Given the description of an element on the screen output the (x, y) to click on. 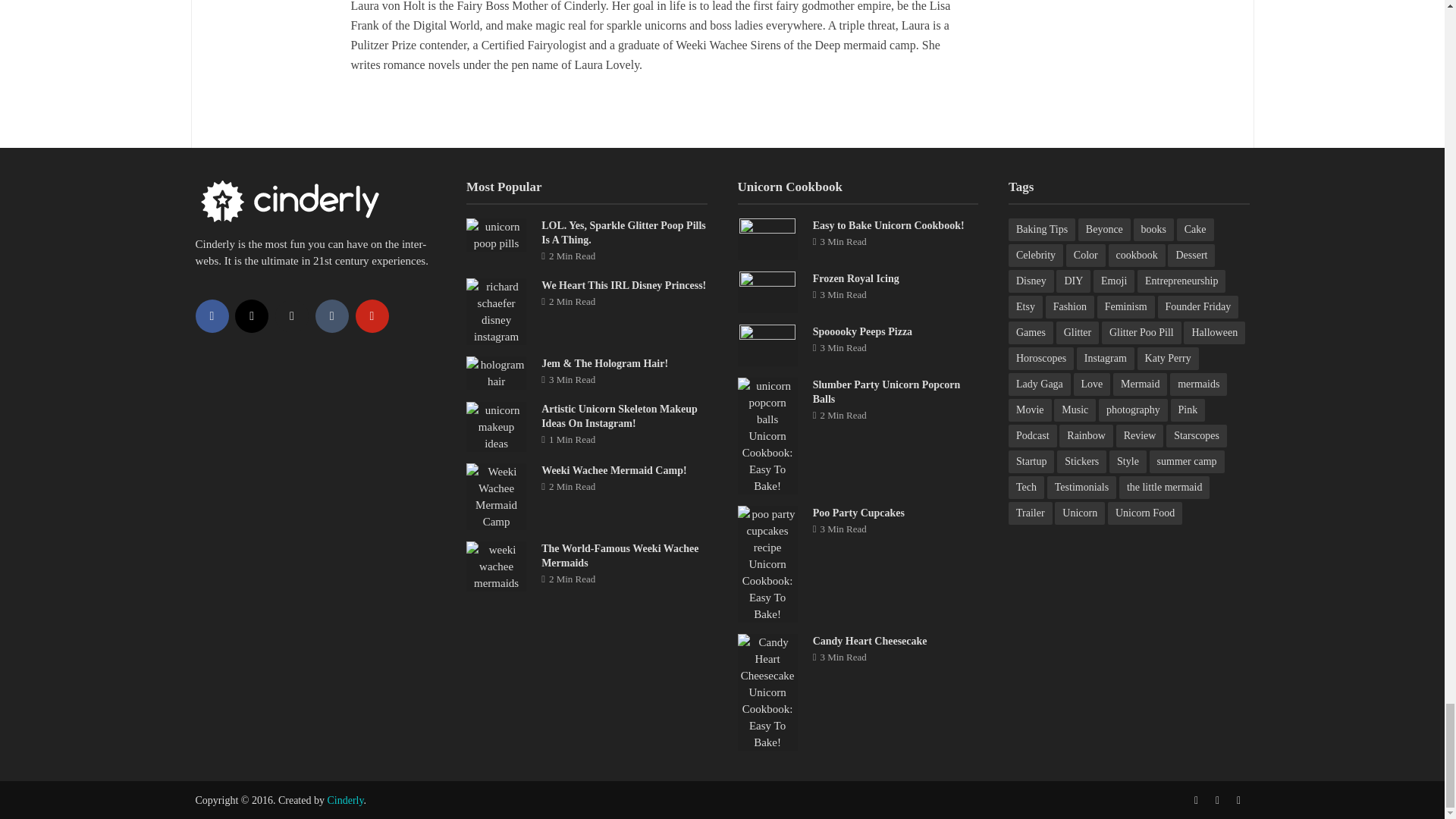
LOL. Yes, Sparkle Glitter Poop Pills Is A Thing. (495, 234)
Instagram (250, 315)
tumblr (332, 315)
Pinterest (371, 315)
Facebook (211, 315)
